Given the description of an element on the screen output the (x, y) to click on. 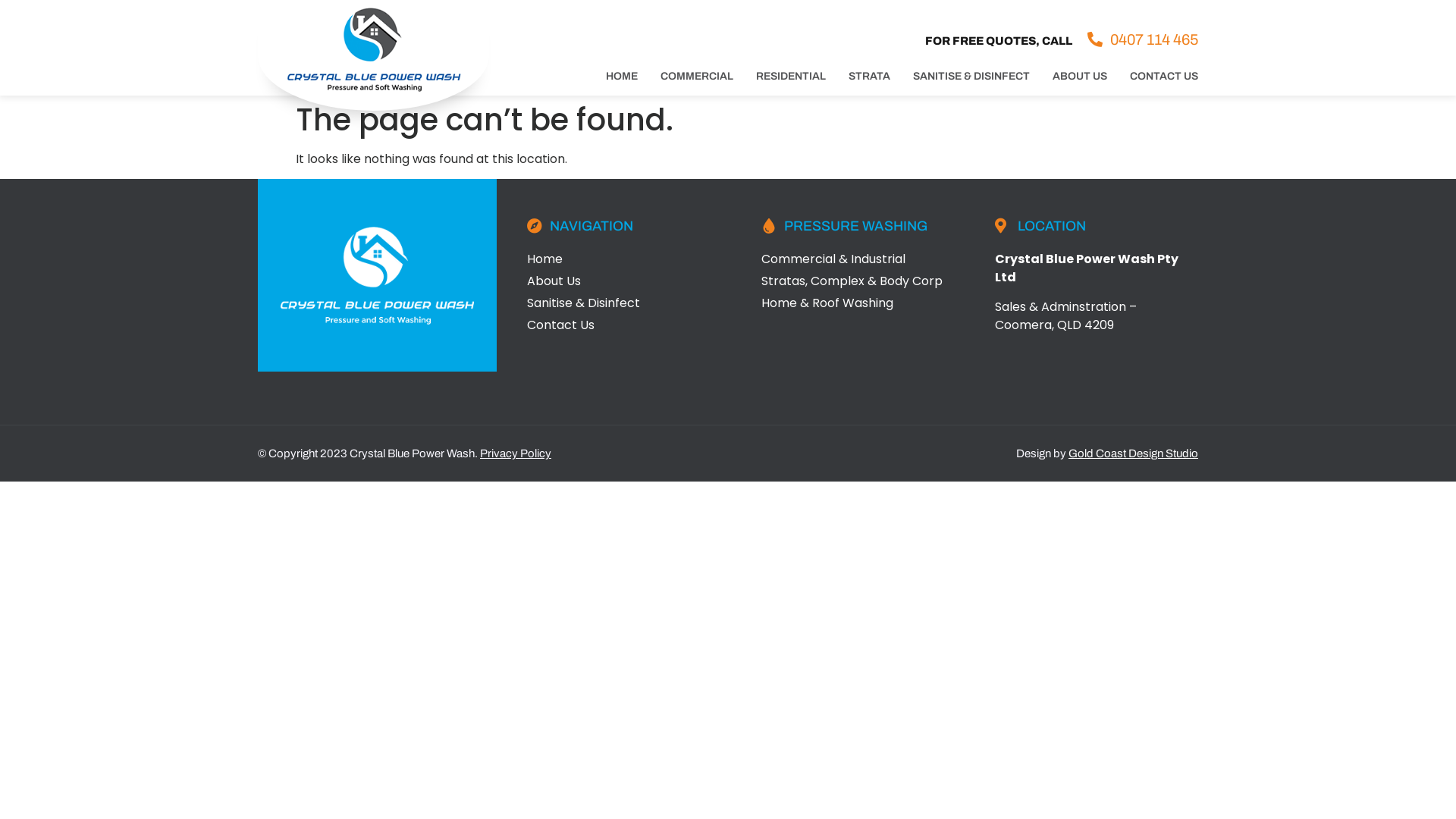
Stratas, Complex & Body Corp Element type: text (862, 281)
Home Element type: text (628, 259)
HOME Element type: text (621, 76)
Gold Coast Design Studio Element type: text (1133, 453)
COMMERCIAL Element type: text (696, 76)
About Us Element type: text (628, 281)
RESIDENTIAL Element type: text (790, 76)
ABOUT US Element type: text (1079, 76)
CONTACT US Element type: text (1163, 76)
STRATA Element type: text (869, 76)
SANITISE & DISINFECT Element type: text (971, 76)
Home & Roof Washing Element type: text (862, 303)
Contact Us Element type: text (628, 325)
Privacy Policy Element type: text (515, 453)
Commercial & Industrial Element type: text (862, 259)
Sanitise & Disinfect Element type: text (628, 303)
0407 114 465 Element type: text (1142, 39)
